Given the description of an element on the screen output the (x, y) to click on. 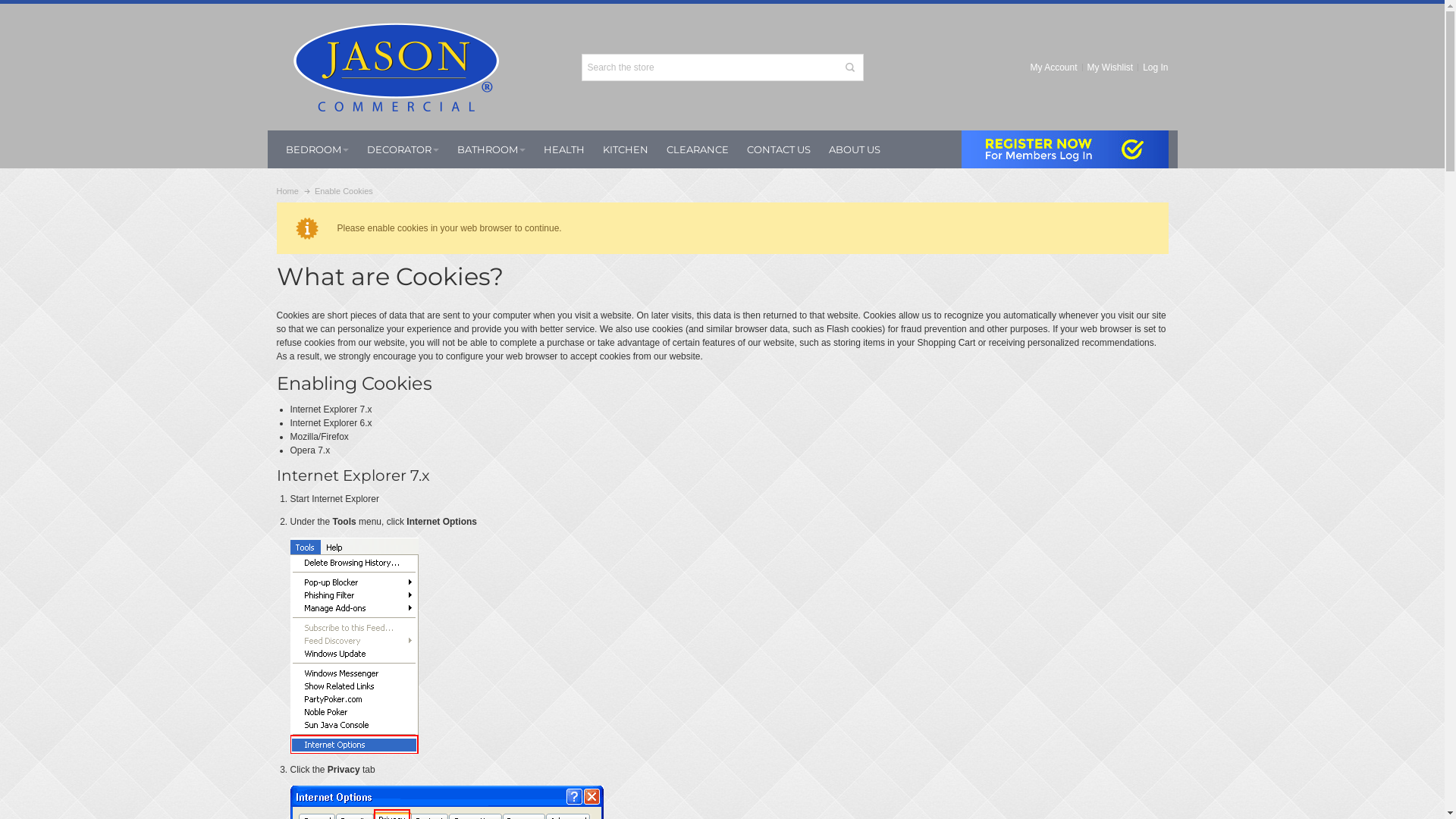
HEALTH Element type: text (563, 149)
DECORATOR  Element type: text (402, 149)
BEDROOM  Element type: text (316, 149)
My Wishlist Element type: text (1109, 67)
Mozilla/Firefox Element type: text (318, 436)
KITCHEN Element type: text (624, 149)
REGISTER NOW FOR MEMBER LOG IN Element type: text (1064, 149)
Home Element type: text (287, 190)
Opera 7.x Element type: text (309, 450)
Internet Explorer 7.x Element type: text (330, 409)
Search Element type: hover (849, 67)
Jason Commercial logo. Element type: hover (395, 66)
CLEARANCE Element type: text (696, 149)
Log In Element type: text (1152, 67)
My Account Element type: text (1053, 67)
BATHROOM  Element type: text (490, 149)
Internet Explorer 6.x Element type: text (330, 422)
ABOUT US Element type: text (853, 149)
CONTACT US Element type: text (778, 149)
